Given the description of an element on the screen output the (x, y) to click on. 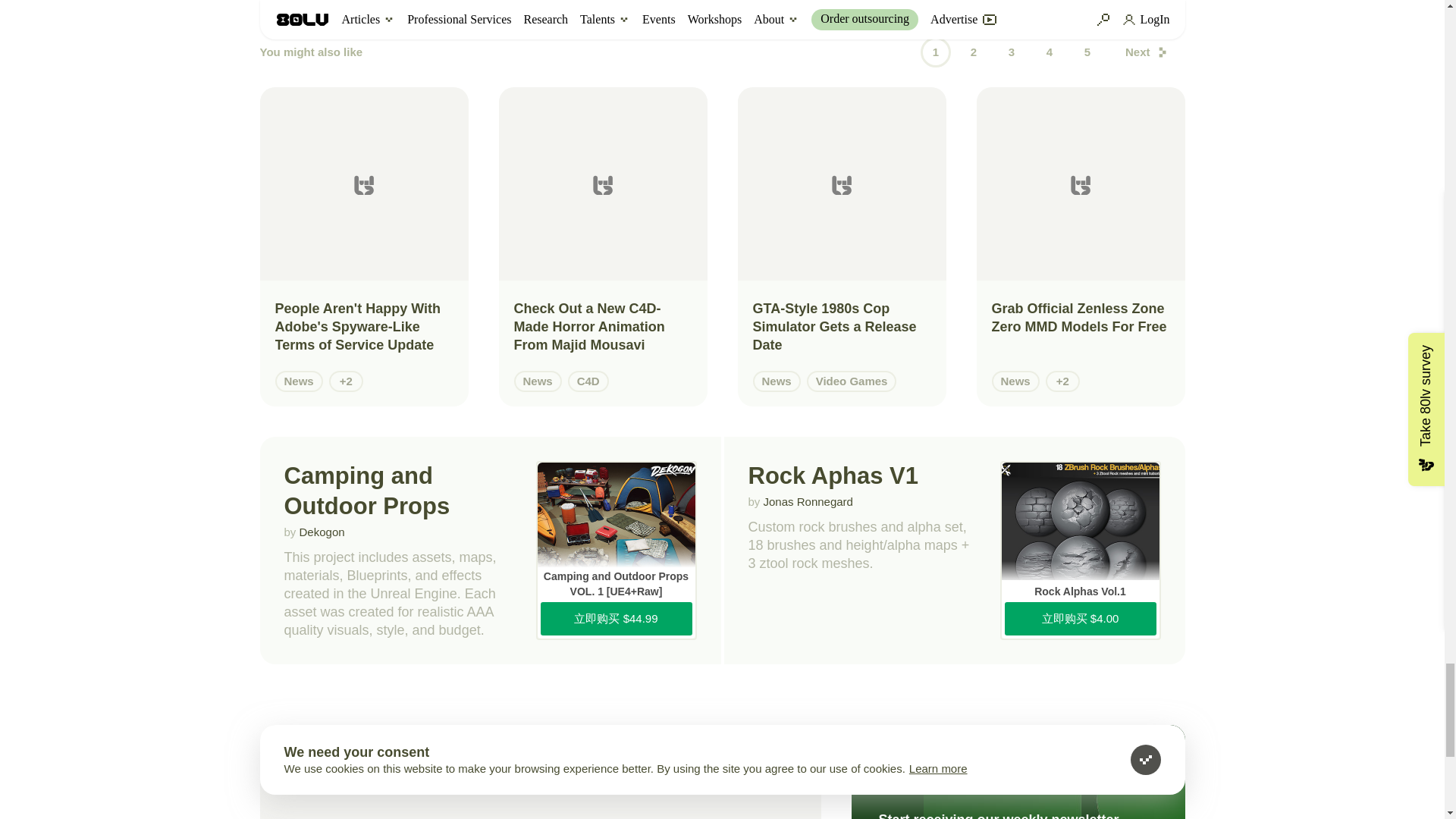
1 (935, 51)
2 (973, 51)
5 (1086, 51)
3 (1010, 51)
4 (1048, 51)
